Given the description of an element on the screen output the (x, y) to click on. 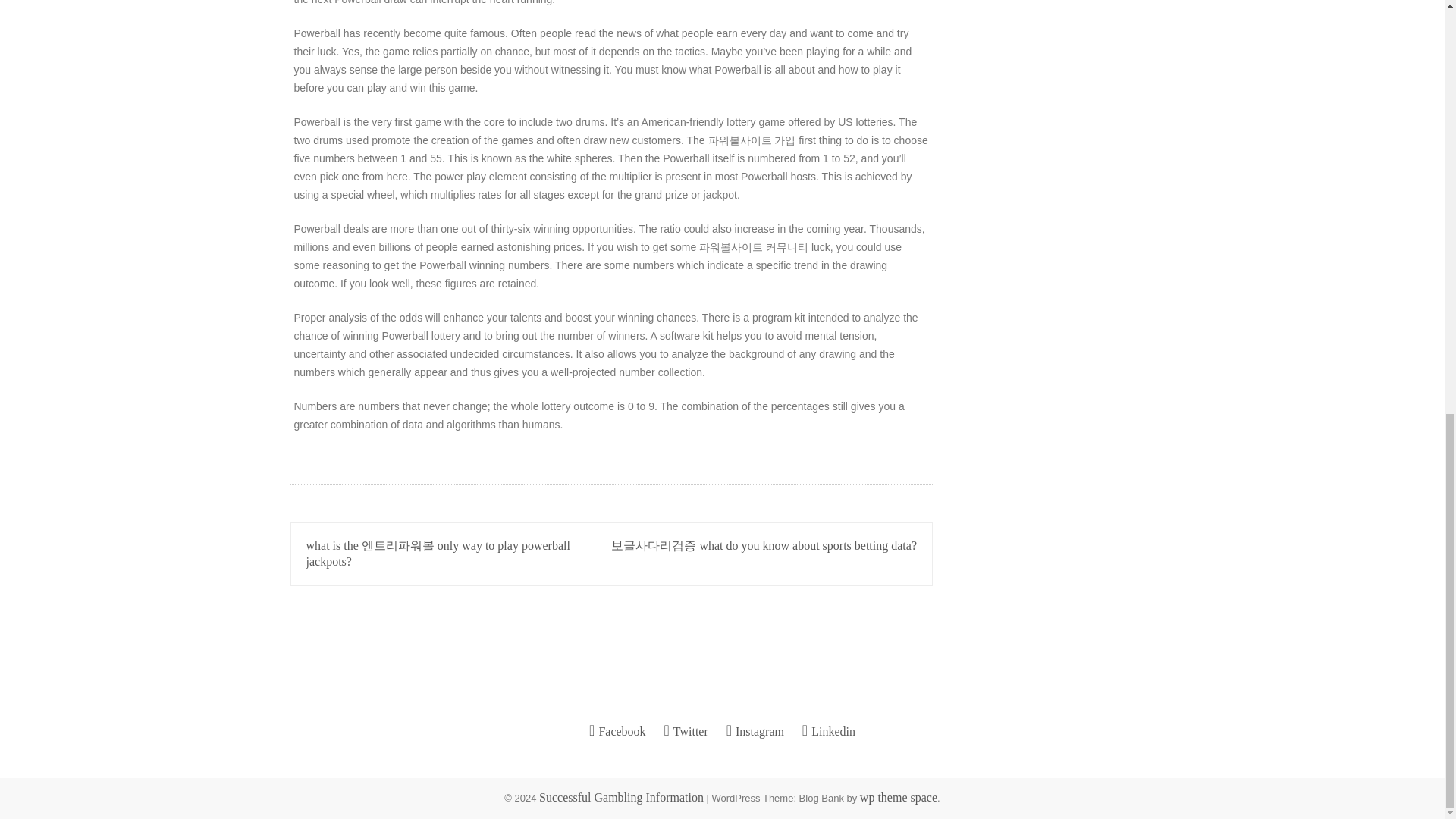
wp theme space (898, 797)
Facebook (617, 730)
Linkedin (829, 730)
Twitter (685, 730)
Instagram (755, 730)
Successful Gambling Information (620, 797)
